Given the description of an element on the screen output the (x, y) to click on. 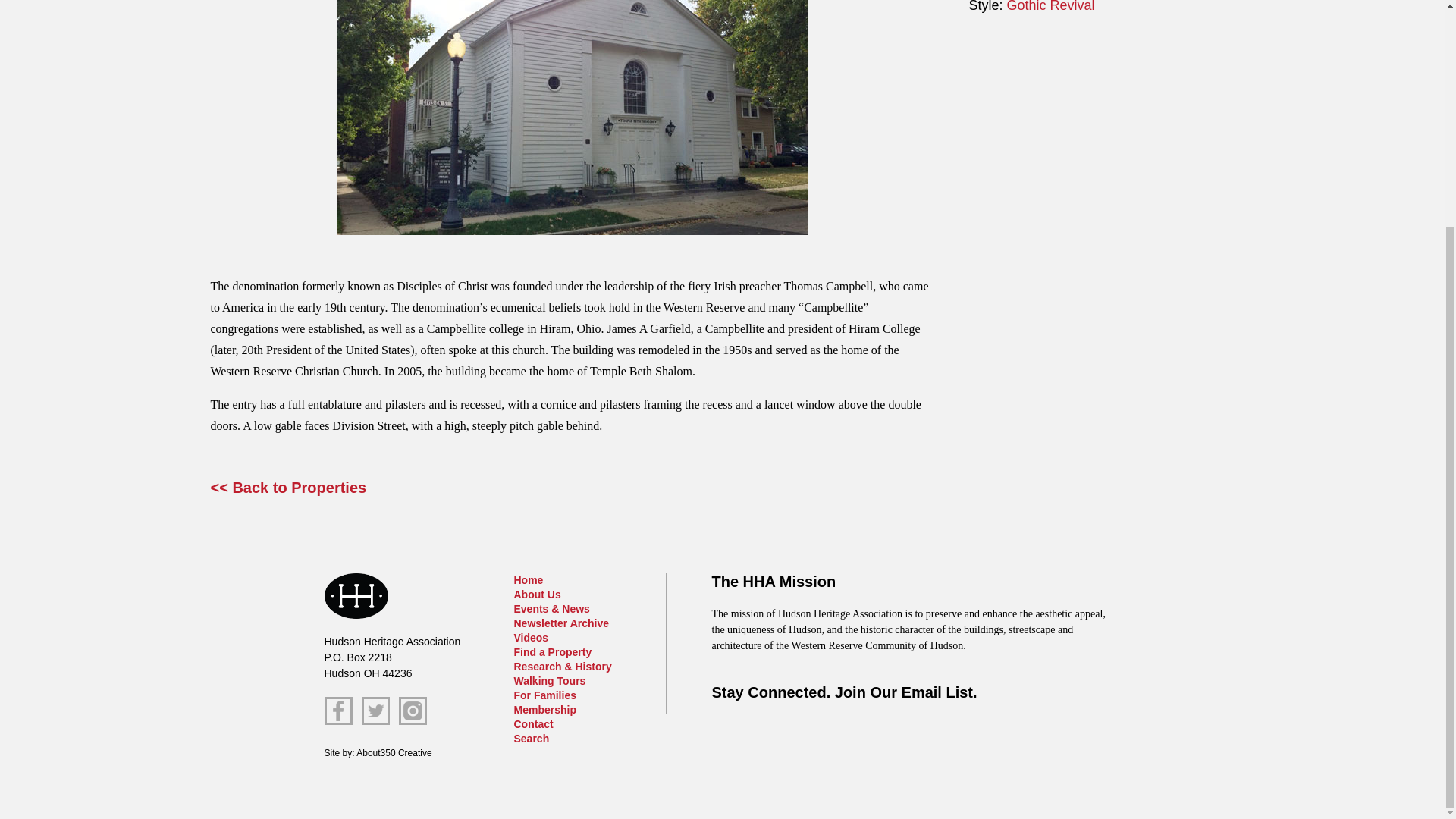
Twitter (374, 710)
Facebook (338, 710)
About350 Creative (393, 752)
Instagram (412, 710)
Gothic Revival (1050, 6)
Hudson Heritage Association (356, 596)
